Given the description of an element on the screen output the (x, y) to click on. 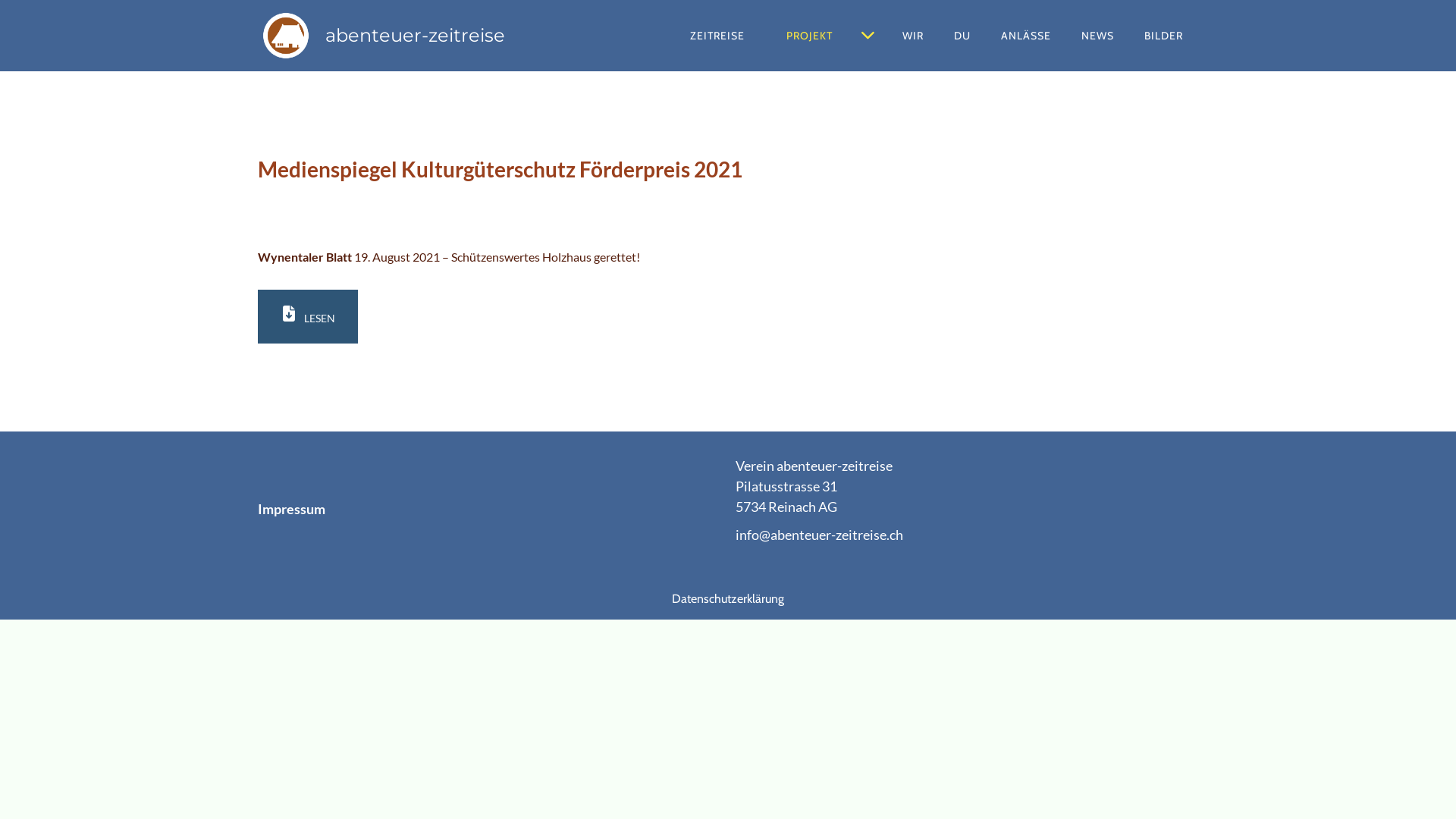
abenteuer-zeitreise Element type: text (415, 35)
LESEN Element type: text (307, 316)
logo Element type: hover (285, 35)
WIR Element type: text (912, 35)
ZEITREISE Element type: text (716, 35)
NEWS Element type: text (1097, 35)
DU Element type: text (961, 35)
BILDER Element type: text (1163, 35)
